Given the description of an element on the screen output the (x, y) to click on. 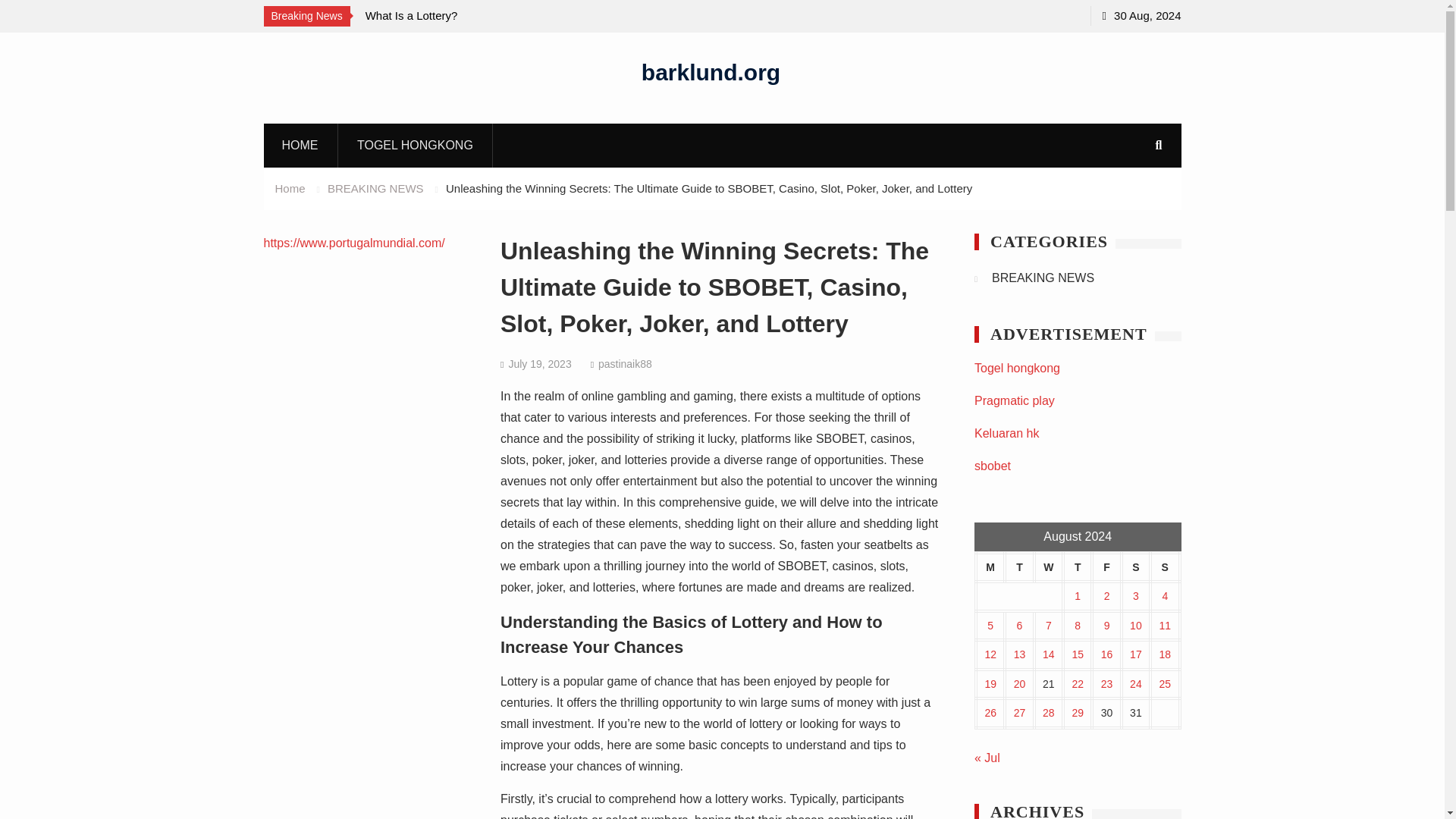
Wednesday (1047, 567)
12 (989, 654)
Togel hongkong (1016, 367)
pastinaik88 (625, 363)
Thursday (1077, 567)
July 19, 2023 (539, 363)
barklund.org (711, 71)
Tuesday (1018, 567)
BREAKING NEWS (375, 187)
Keluaran hk (1006, 432)
